Given the description of an element on the screen output the (x, y) to click on. 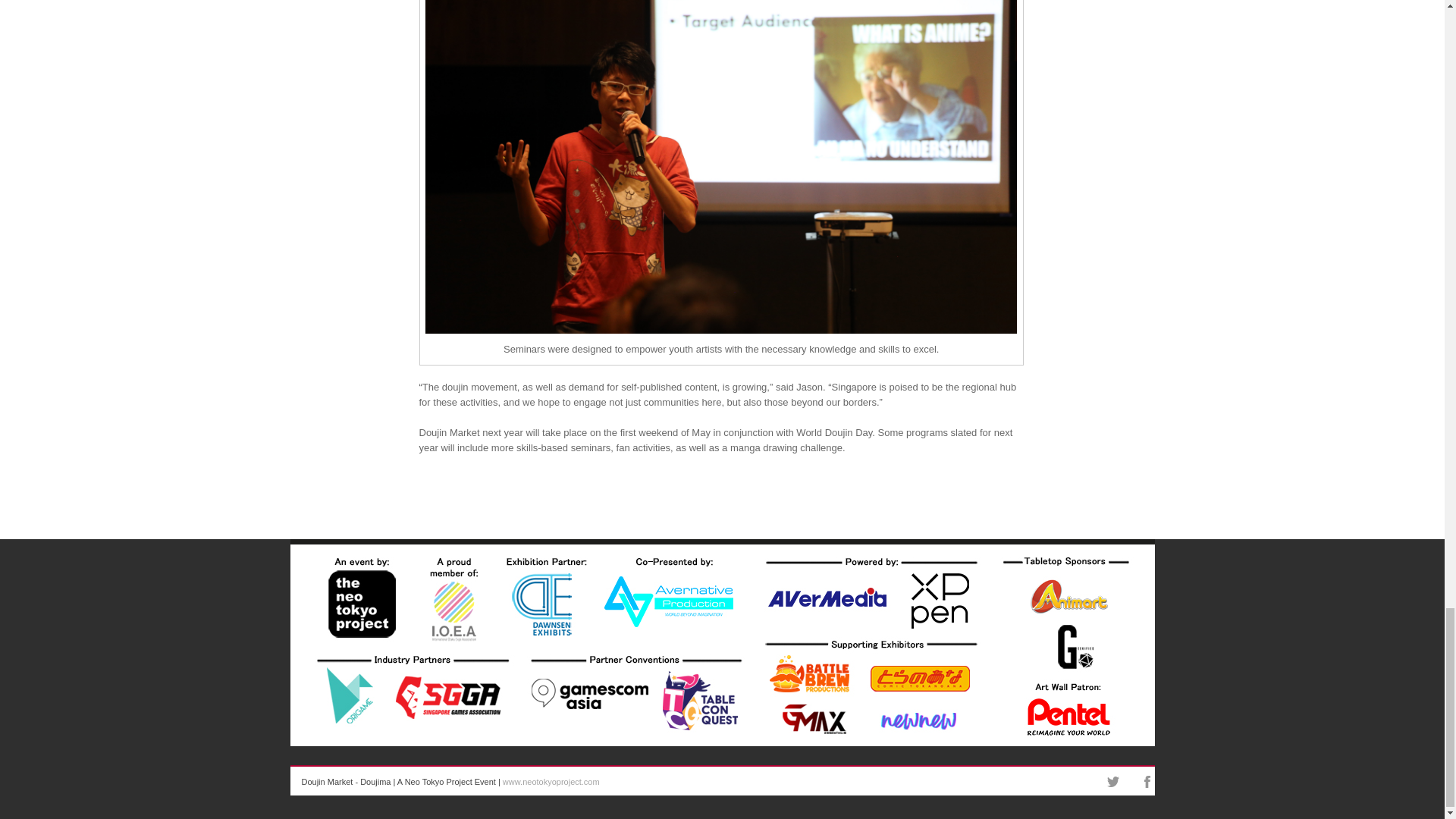
Facebook (1146, 781)
www.neotokyoproject.com (550, 781)
Twitter (1112, 781)
